Given the description of an element on the screen output the (x, y) to click on. 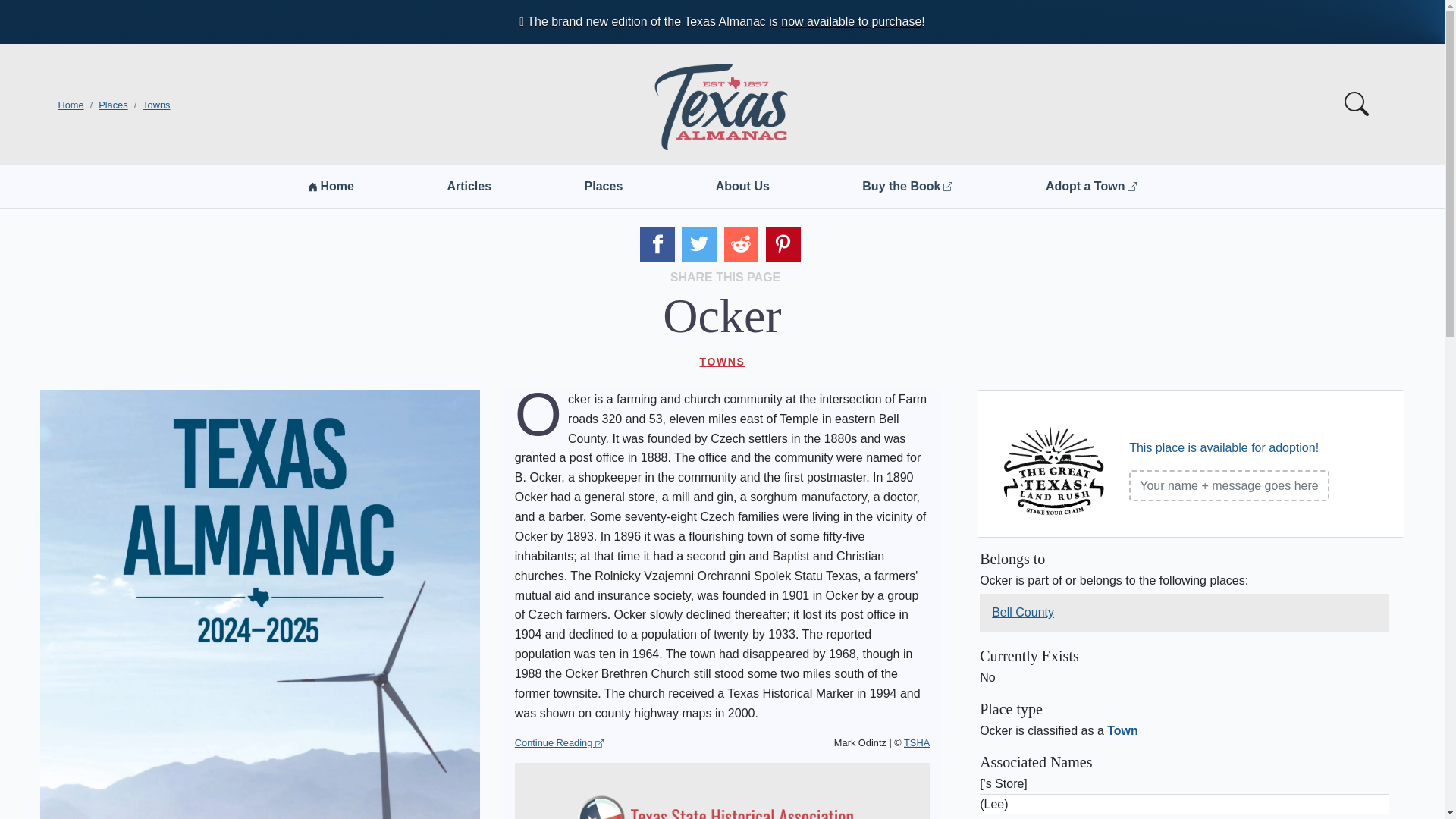
Places (113, 105)
Places (603, 186)
Continue Reading (559, 743)
Home (70, 105)
Articles (469, 186)
now available to purchase (850, 21)
Home (330, 186)
Adopt a Town (1090, 186)
TSHA (917, 742)
Towns (156, 105)
TOWNS (722, 361)
About Us (743, 186)
Town (1122, 730)
Bell County (1022, 612)
Texas State Historical Association (917, 742)
